Given the description of an element on the screen output the (x, y) to click on. 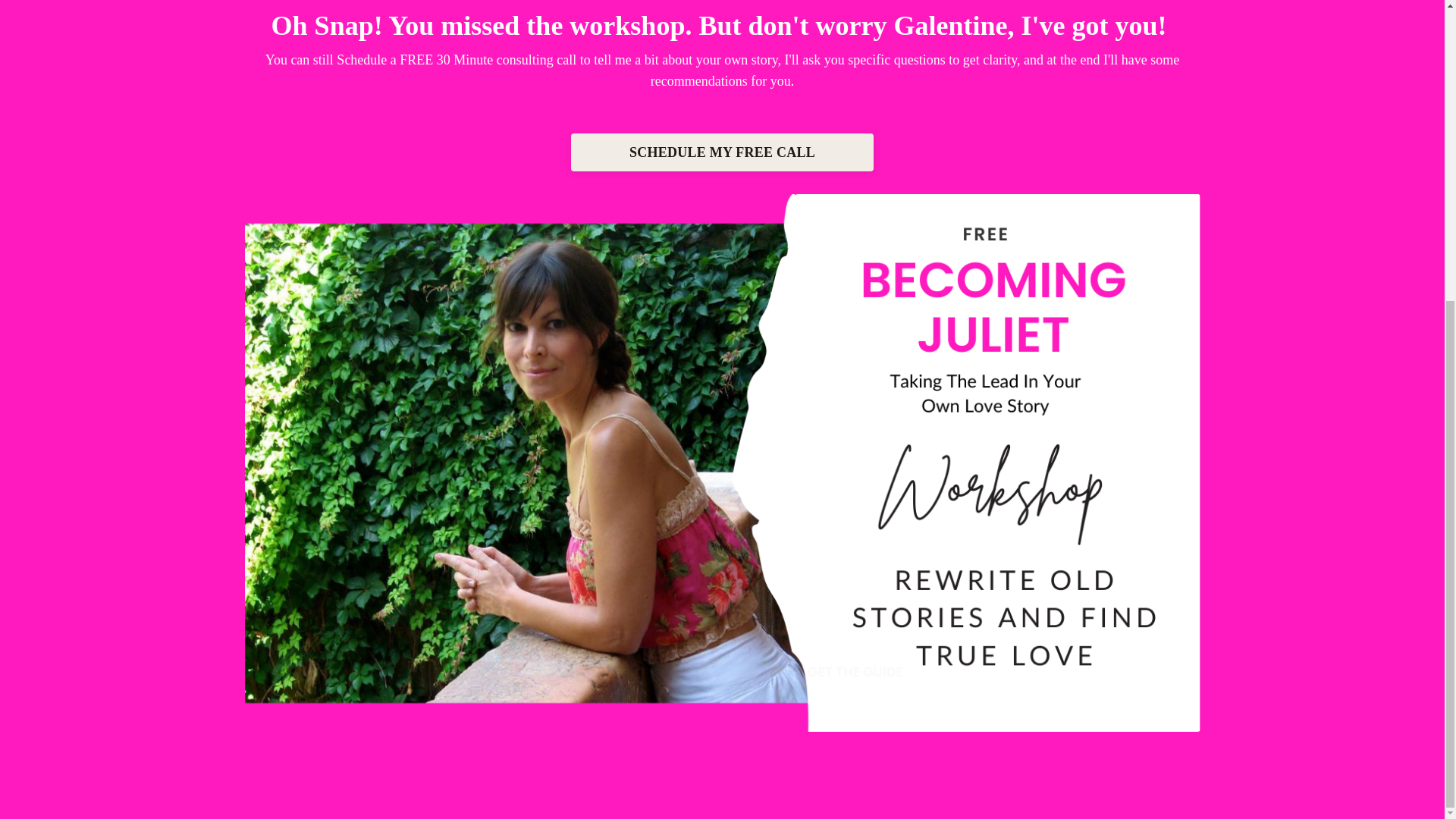
SCHEDULE MY FREE CALL (721, 152)
